Given the description of an element on the screen output the (x, y) to click on. 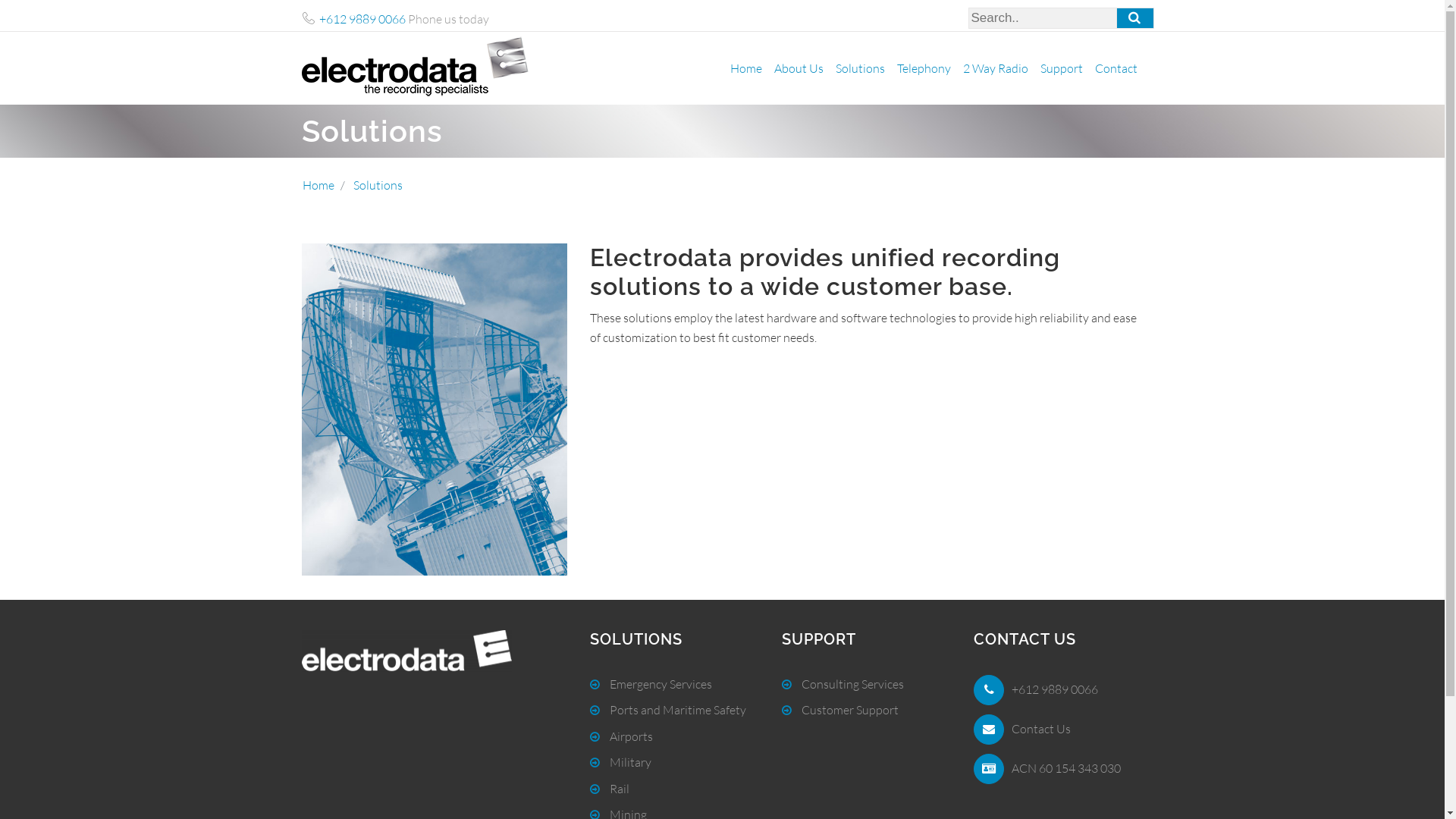
About Us Element type: text (797, 68)
Rail Element type: text (609, 788)
2 Way Radio Element type: text (995, 68)
Home Element type: text (317, 184)
Airports Element type: text (620, 735)
Emergency Services Element type: text (650, 683)
Telephony Element type: text (923, 68)
+612 9889 0066 Element type: text (361, 18)
Ports and Maritime Safety Element type: text (667, 709)
Customer Support Element type: text (839, 709)
Home Element type: text (745, 68)
Contact Element type: text (1115, 68)
Consulting Services Element type: text (842, 683)
+612 9889 0066 Element type: text (1054, 688)
Contact Us Element type: text (1040, 728)
Support Element type: text (1061, 68)
Solutions Element type: text (860, 68)
Solutions Element type: text (377, 184)
Military Element type: text (620, 761)
